Given the description of an element on the screen output the (x, y) to click on. 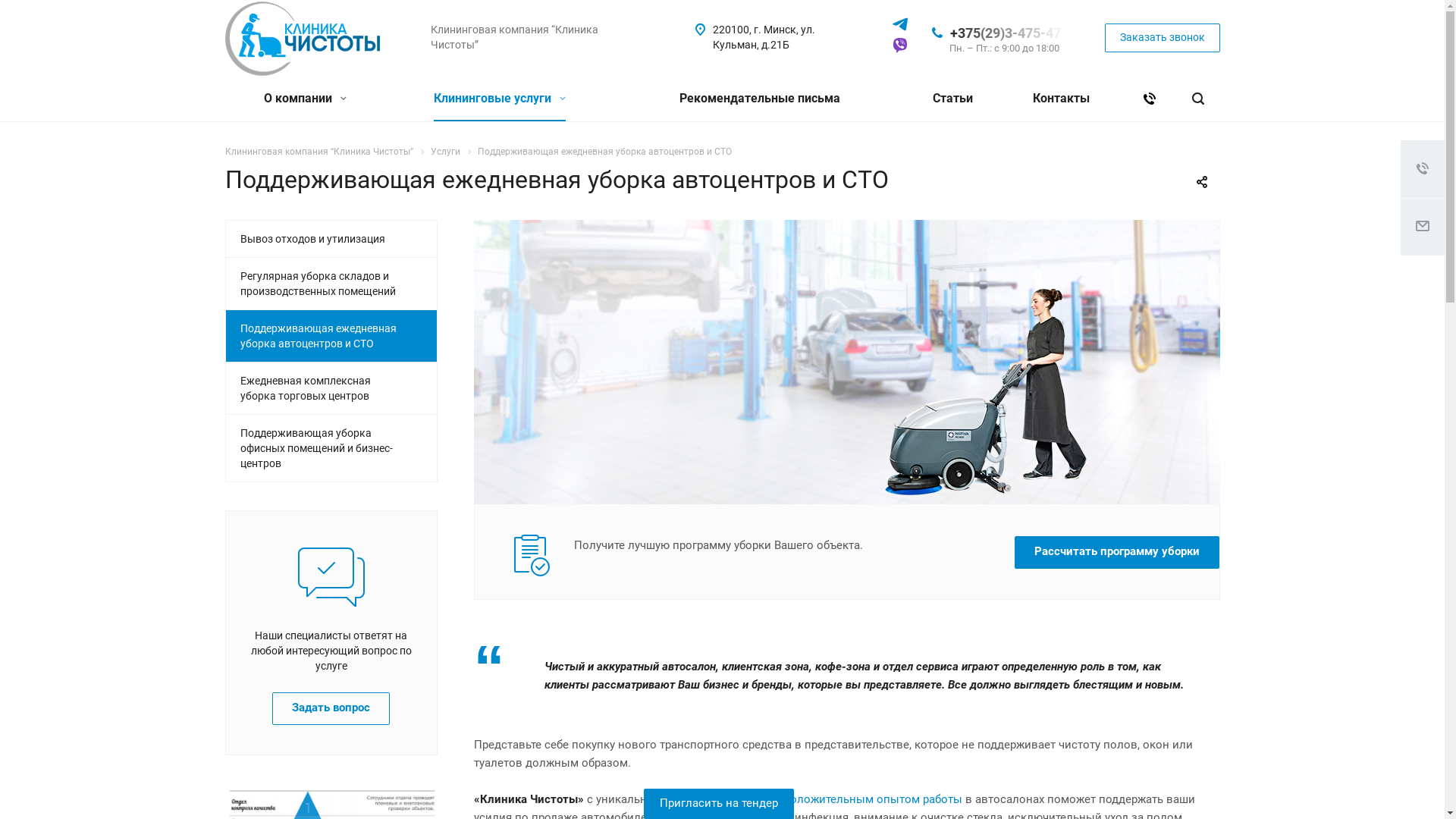
+375(29)3-475-47 Element type: text (1008, 32)
